Given the description of an element on the screen output the (x, y) to click on. 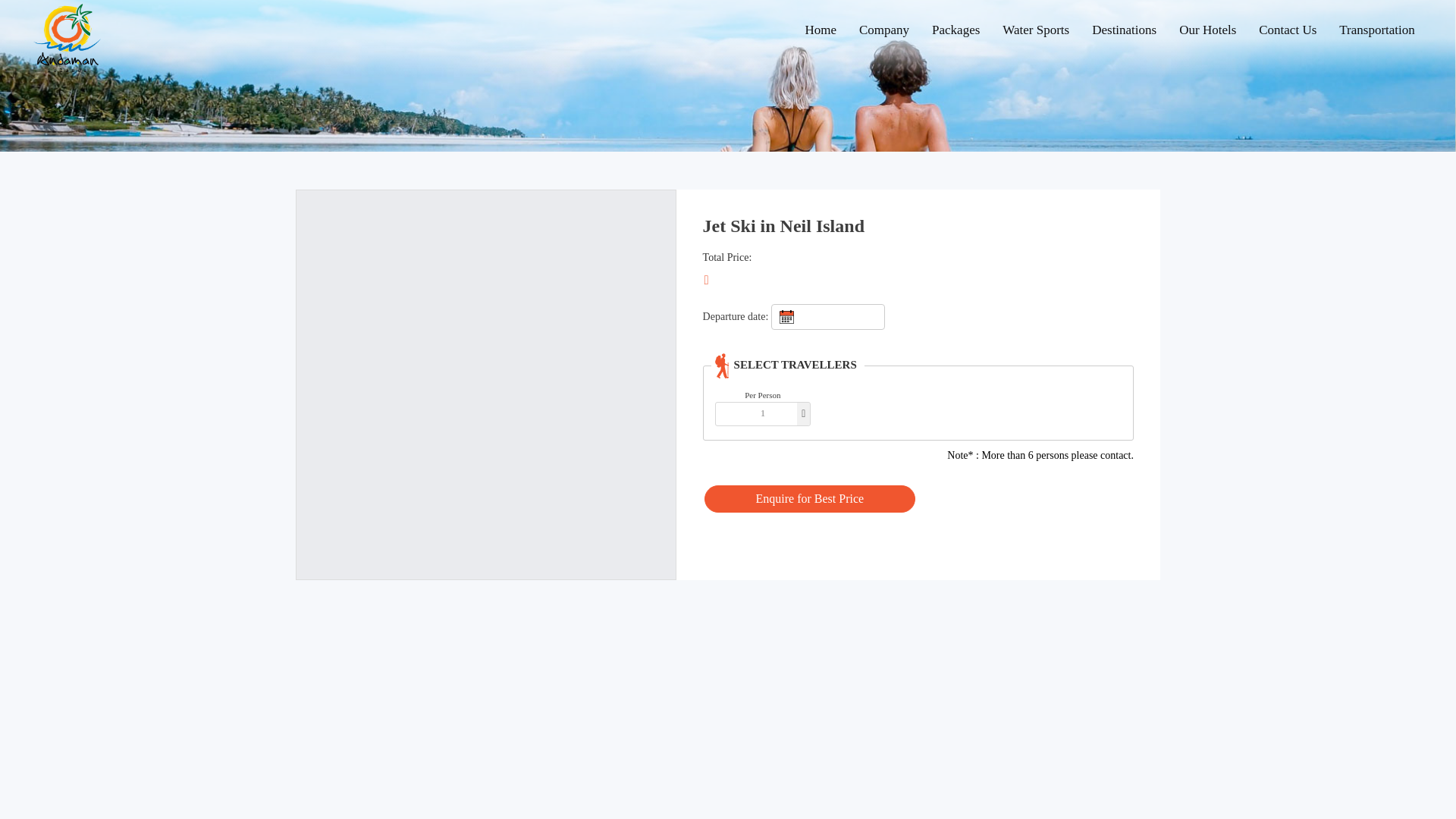
Home (820, 30)
Water Sports (1035, 30)
Company (883, 30)
Destinations (1123, 30)
Packages (955, 30)
